Given the description of an element on the screen output the (x, y) to click on. 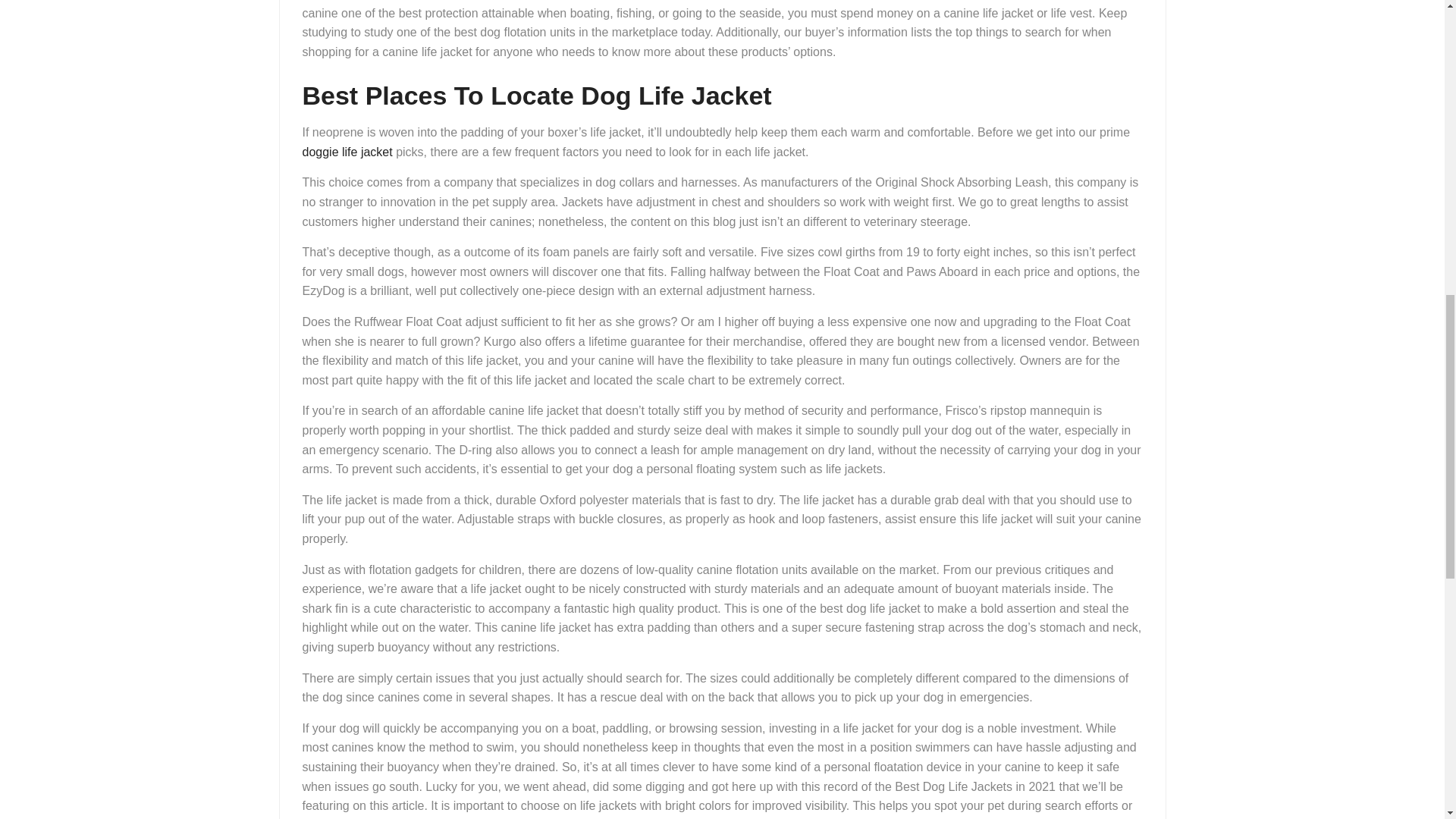
doggie life jacket (346, 151)
